Given the description of an element on the screen output the (x, y) to click on. 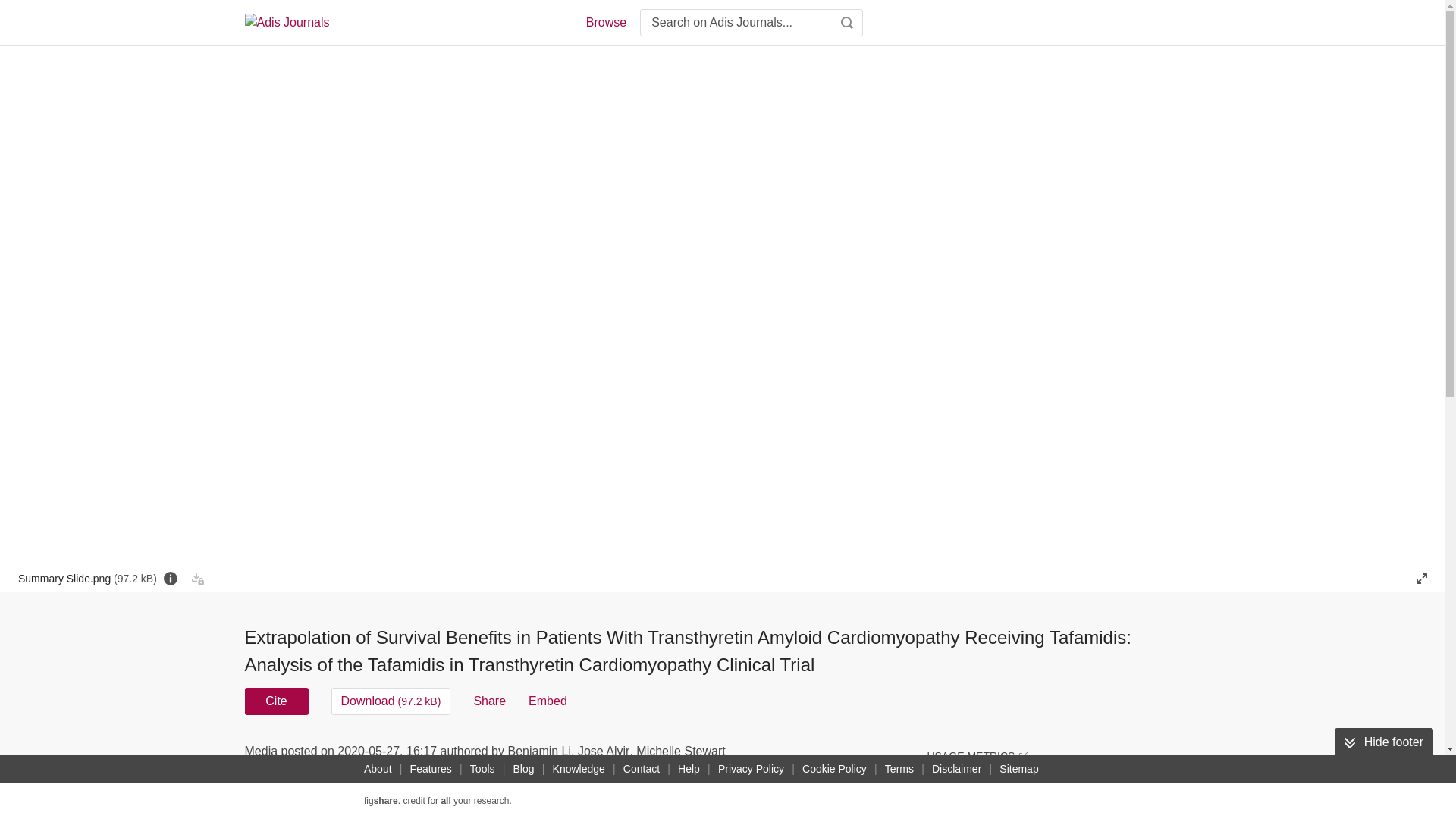
Summary Slide.png (87, 578)
Hide footer (1383, 742)
Share (489, 700)
Knowledge (579, 769)
Embed (547, 700)
Browse (605, 22)
Features (431, 769)
Terms (899, 769)
Contact (640, 769)
Privacy Policy (751, 769)
Help (688, 769)
About (377, 769)
Cite (275, 700)
Cookie Policy (833, 769)
USAGE METRICS (976, 755)
